Given the description of an element on the screen output the (x, y) to click on. 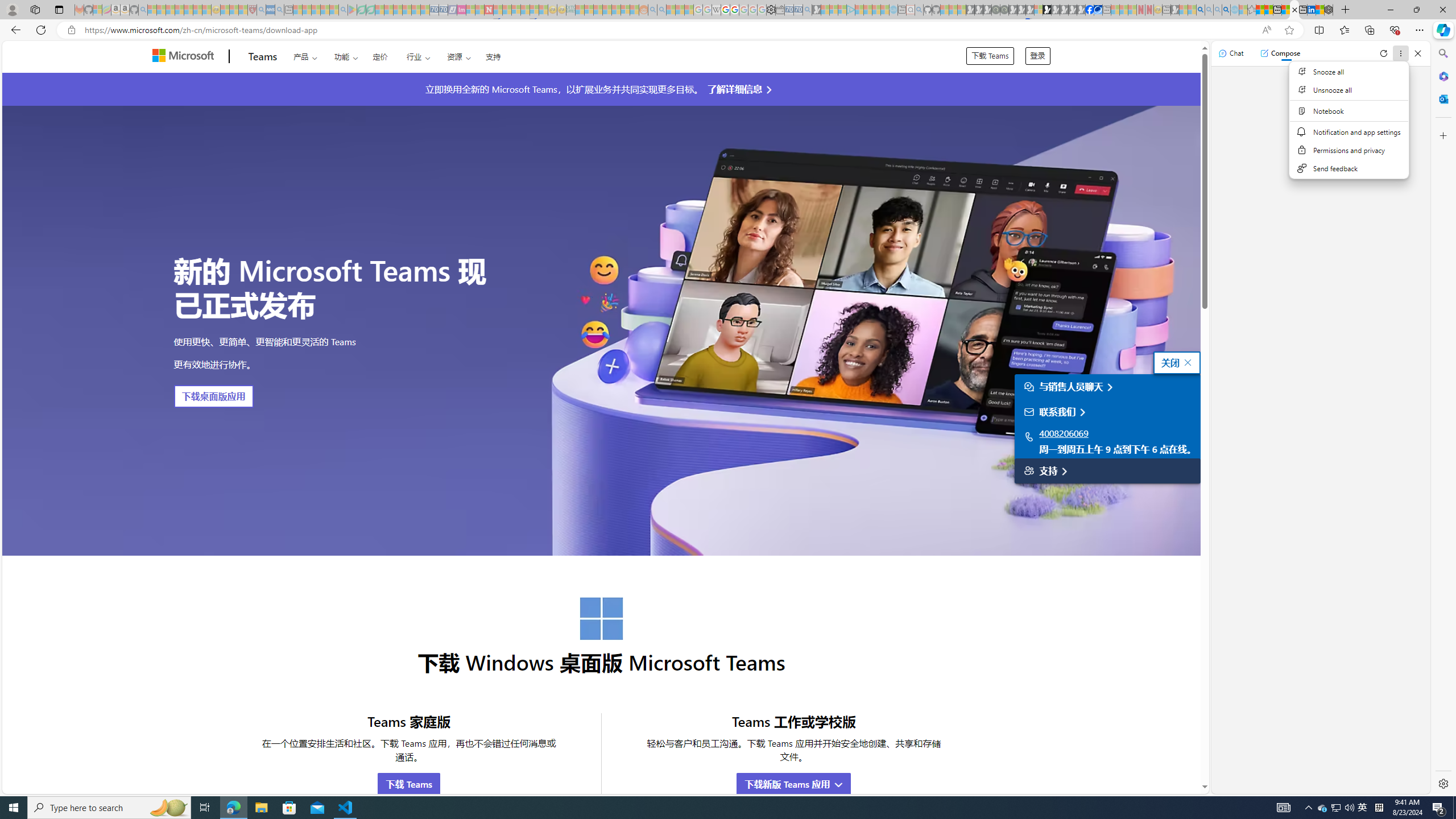
Microsoft (184, 56)
Favorites - Sleeping (1251, 9)
DITOGAMES AG Imprint - Sleeping (570, 9)
Nordace | Facebook (1089, 9)
Notification and app settings (1349, 131)
Notebook (1349, 110)
